Given the description of an element on the screen output the (x, y) to click on. 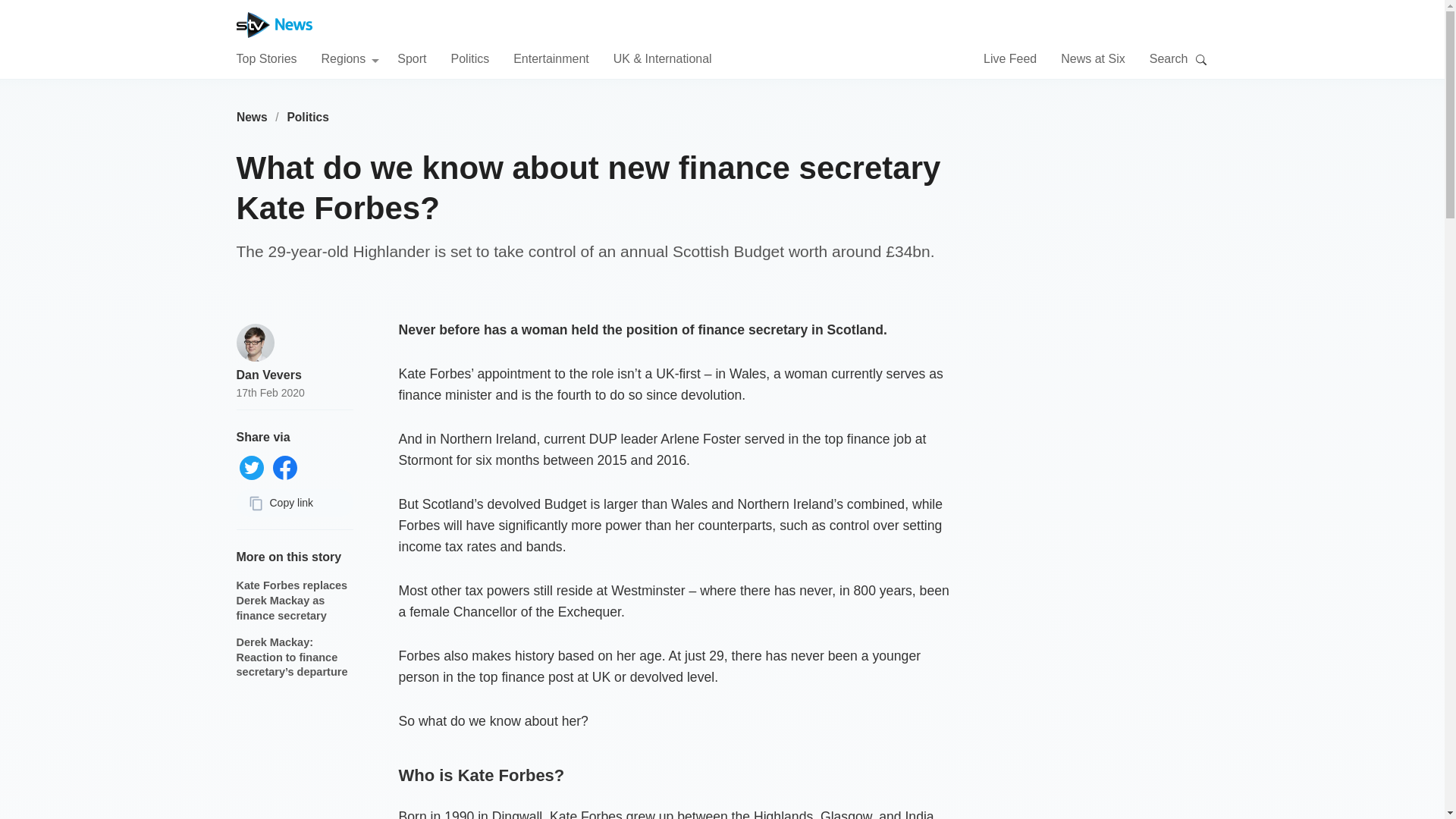
Search (1201, 59)
Entertainment (551, 57)
Live Feed (1010, 57)
News at Six (1092, 57)
Dan Vevers (268, 374)
Politics (307, 116)
Top Stories (266, 57)
News (252, 116)
Regions (350, 57)
Politics (469, 57)
